Given the description of an element on the screen output the (x, y) to click on. 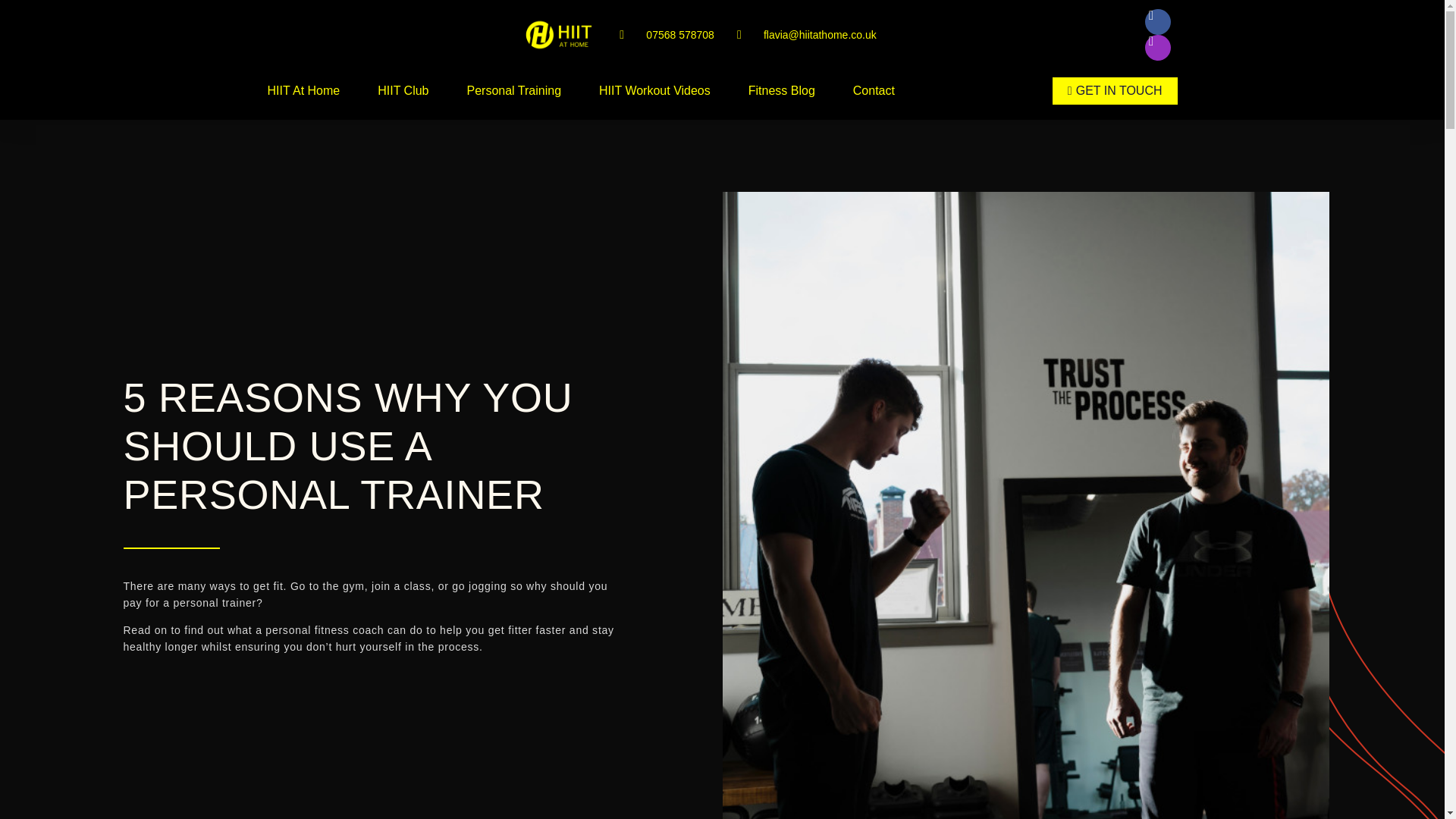
Personal Training (514, 90)
Fitness Blog (781, 90)
HIIT At Home (302, 90)
GET IN TOUCH (1114, 90)
Contact (874, 90)
HIIT Club (402, 90)
HIIT Workout Videos (654, 90)
